Given the description of an element on the screen output the (x, y) to click on. 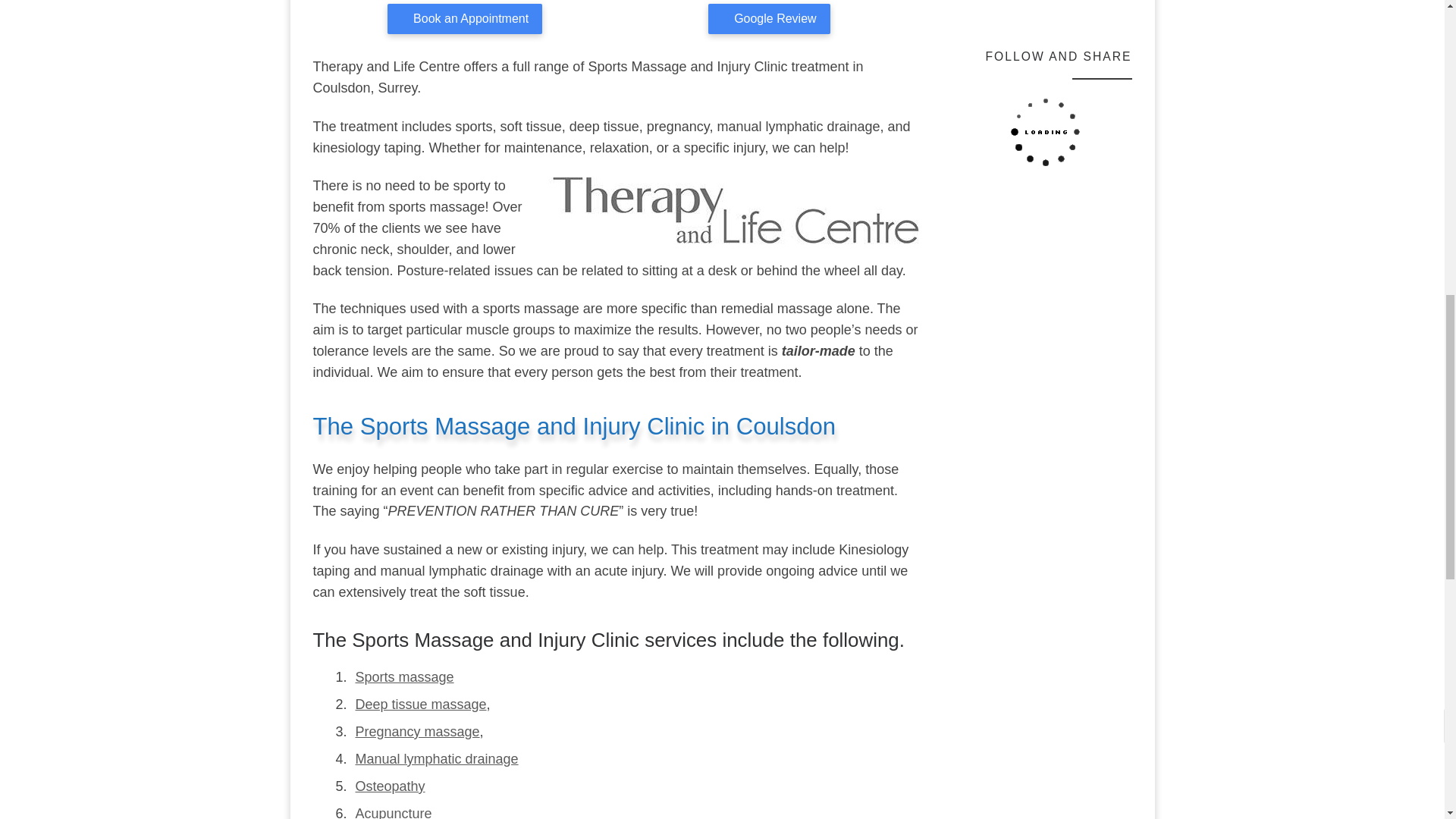
Please Leave us a Google Review (768, 19)
Click here to Book an Appointment (464, 19)
